Given the description of an element on the screen output the (x, y) to click on. 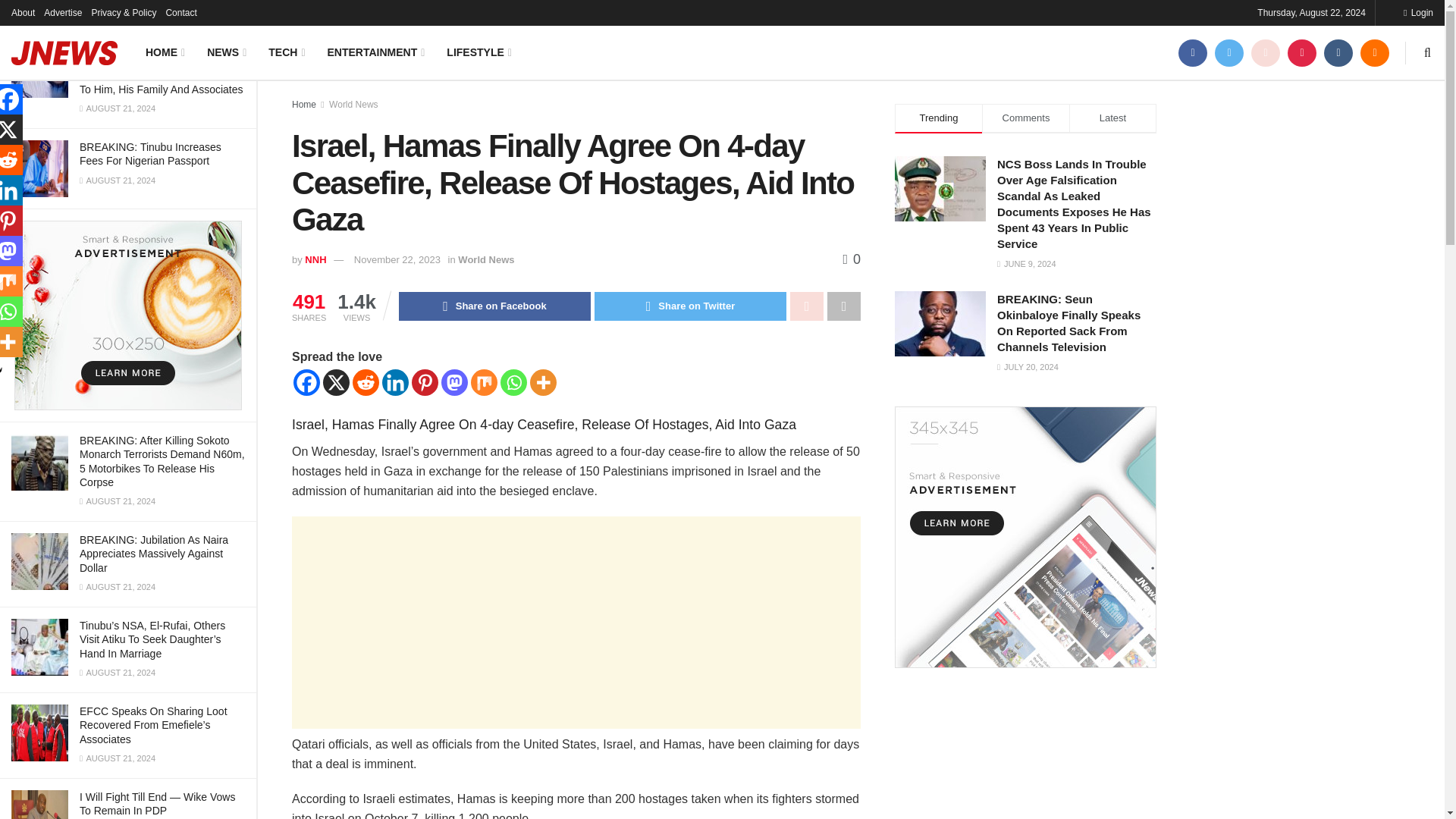
BREAKING: Tinubu Increases Fees For Nigerian Passport (150, 153)
Pinterest (425, 382)
X (336, 382)
About (22, 12)
Filter (227, 13)
Whatsapp (513, 382)
Advertise (62, 12)
Facebook (307, 382)
